Given the description of an element on the screen output the (x, y) to click on. 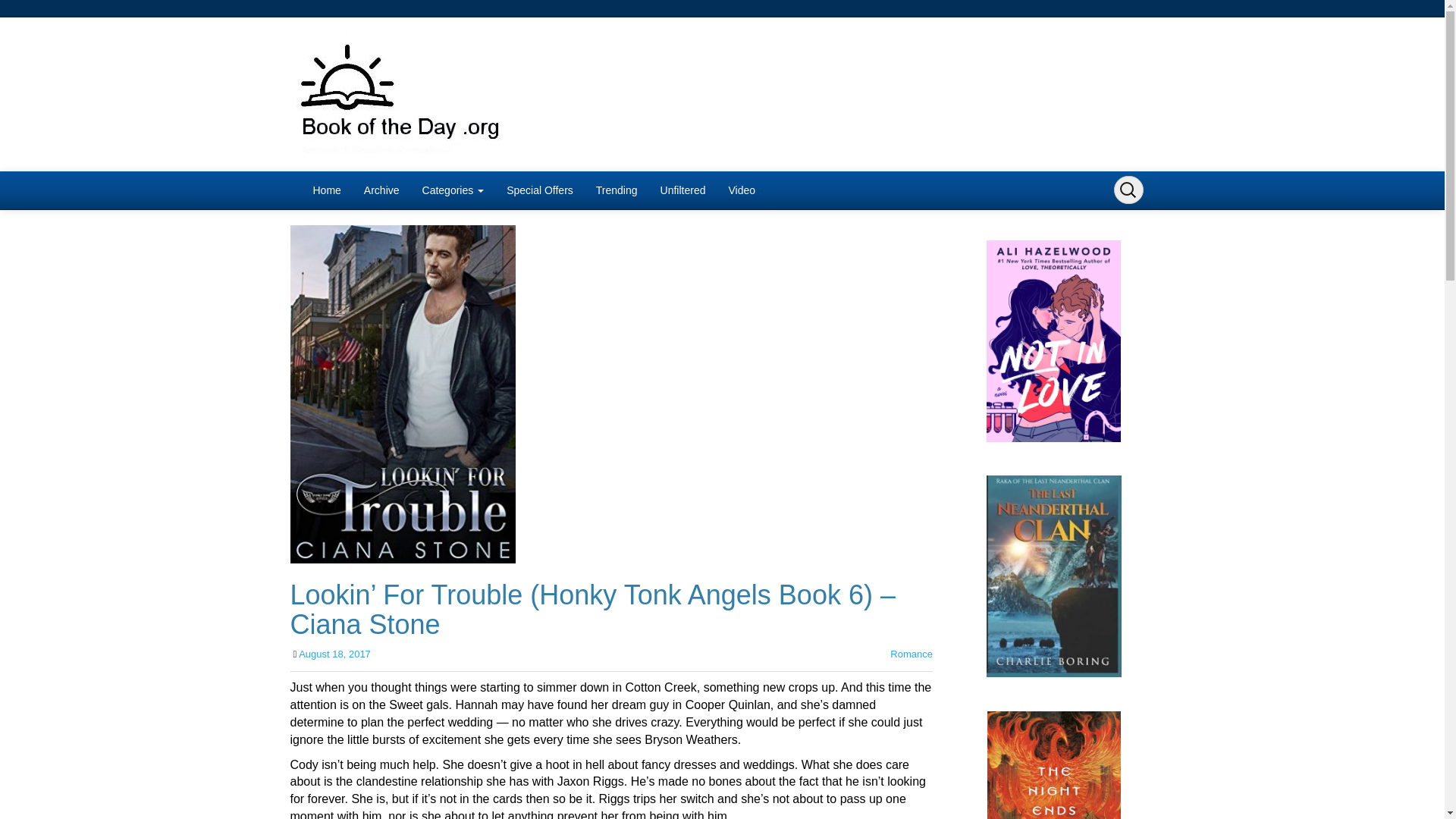
August 18, 2017 (334, 654)
Categories (453, 190)
Home (326, 190)
12:03 am (334, 654)
Trending (617, 190)
Romance (911, 654)
Special Offers (540, 190)
Unfiltered (683, 190)
Video (741, 190)
Archive (381, 190)
